Given the description of an element on the screen output the (x, y) to click on. 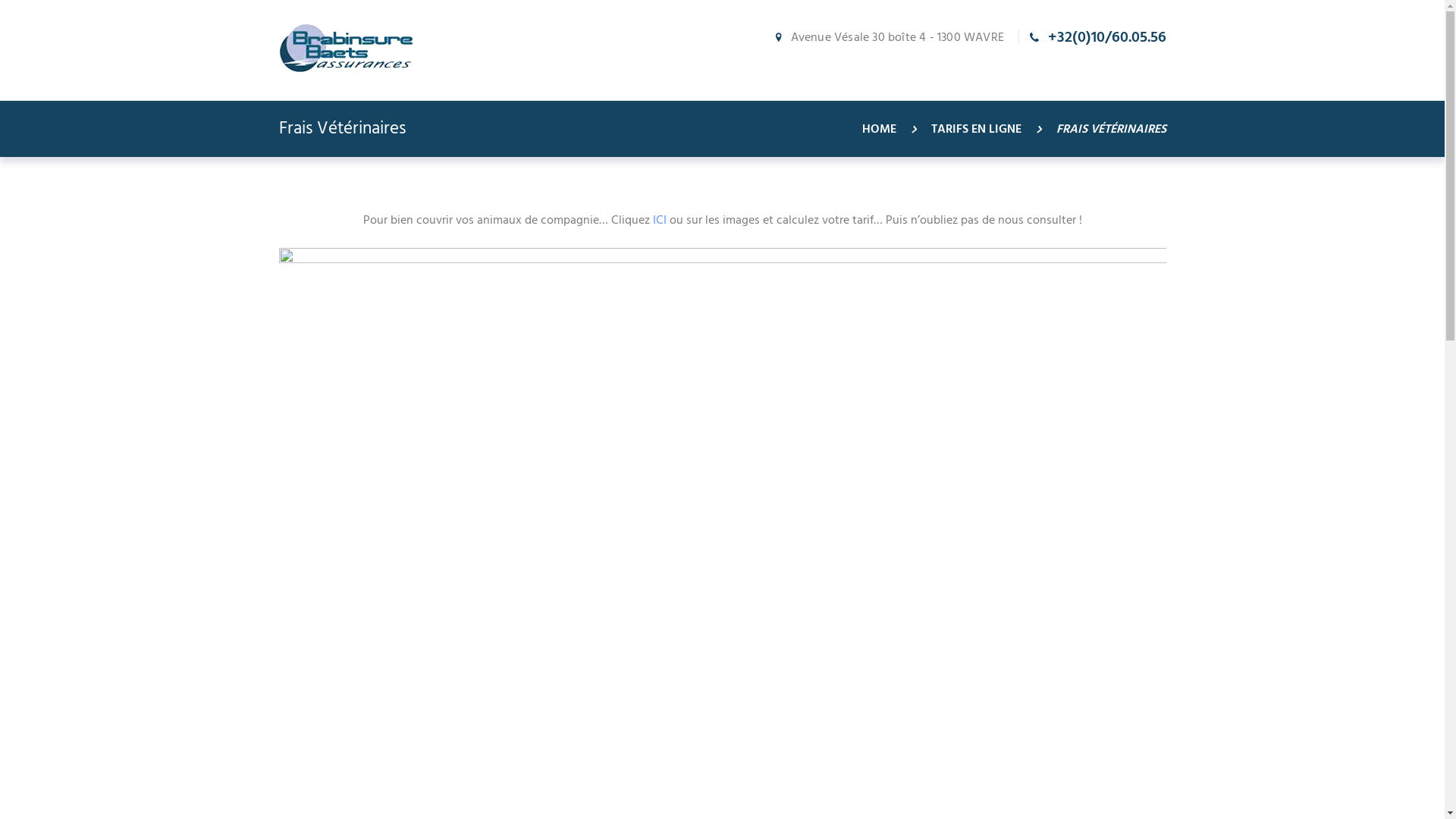
HOME Element type: text (878, 129)
ICI Element type: text (657, 220)
TARIFS EN LIGNE Element type: text (976, 129)
